Given the description of an element on the screen output the (x, y) to click on. 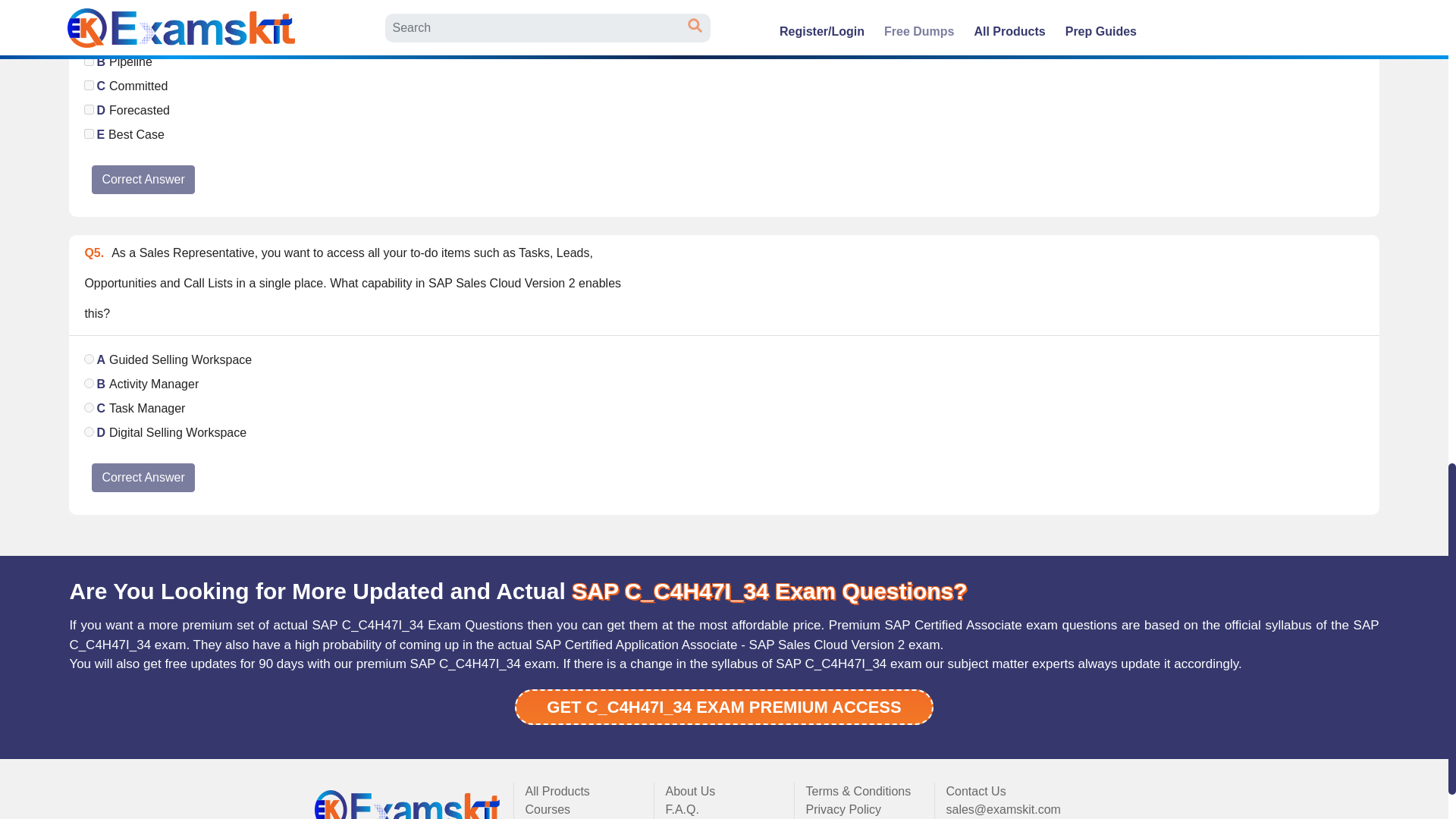
D (89, 109)
C (89, 85)
A (89, 358)
E (89, 133)
Certification Questions (408, 804)
A (89, 36)
B (89, 61)
